Given the description of an element on the screen output the (x, y) to click on. 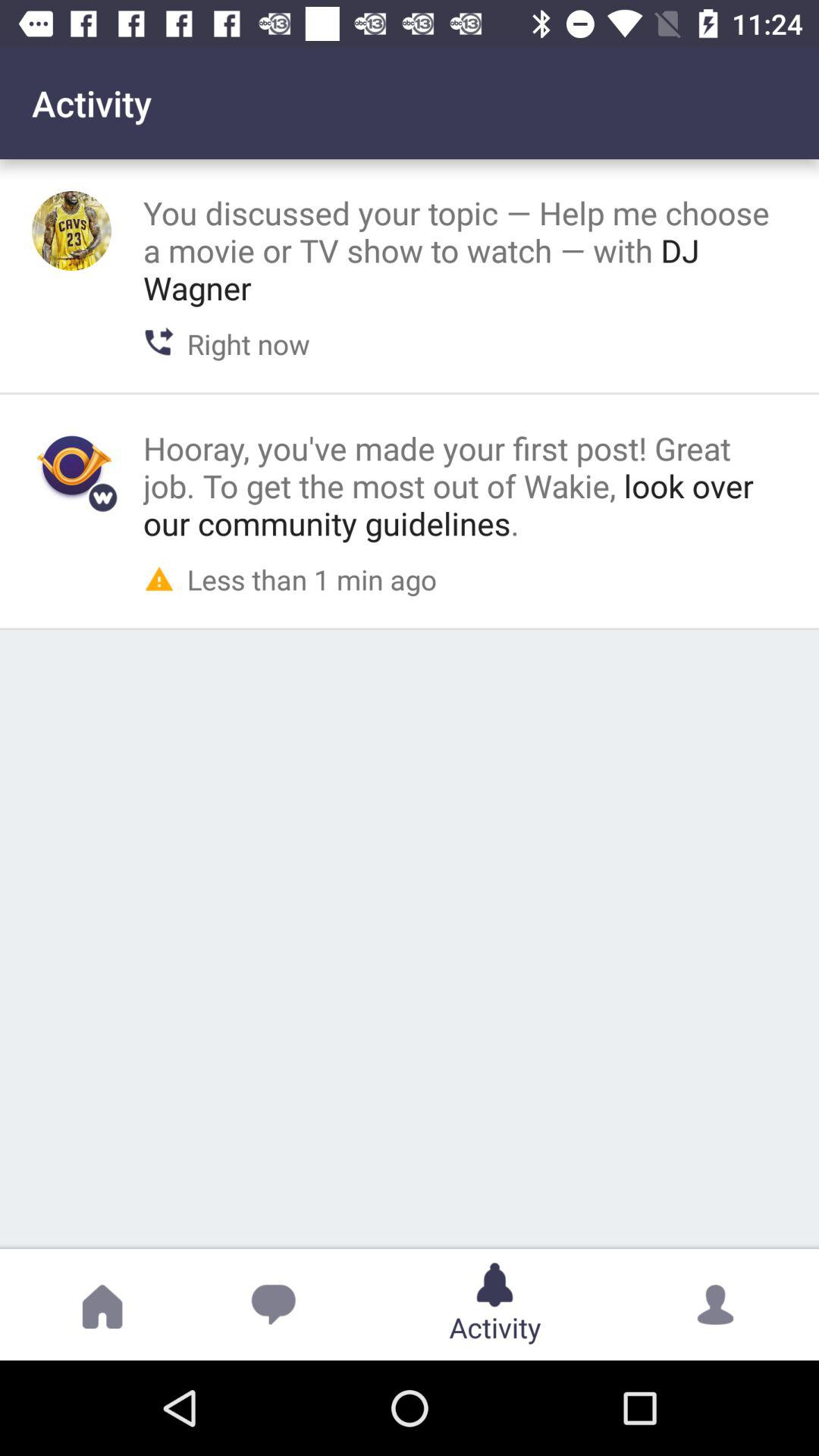
view full size profile picture (71, 230)
